Given the description of an element on the screen output the (x, y) to click on. 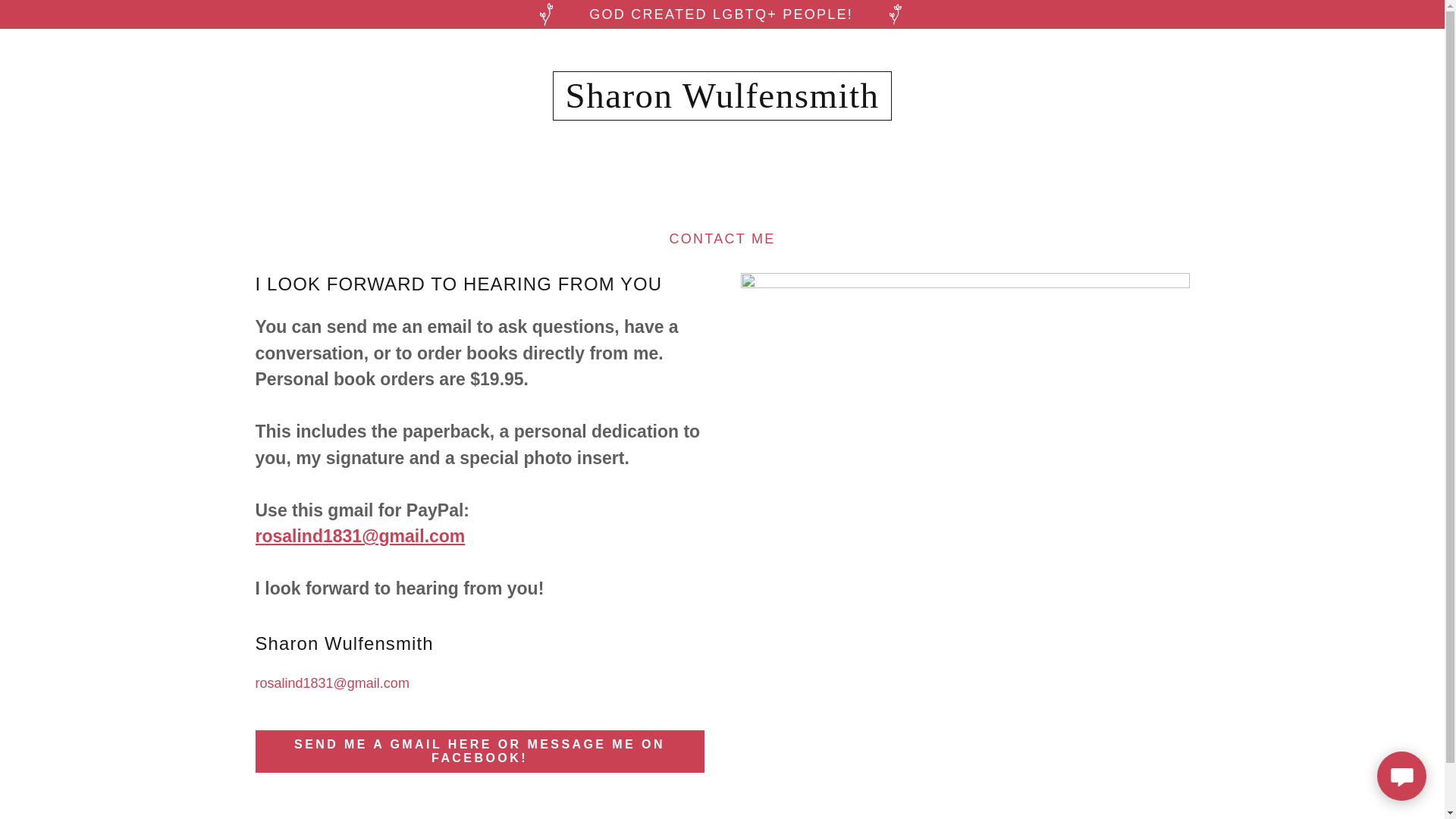
SEND ME A GMAIL HERE OR MESSAGE ME ON FACEBOOK! (478, 751)
Sharon Wulfensmith (722, 102)
Sharon Wulfensmith (722, 102)
